Given the description of an element on the screen output the (x, y) to click on. 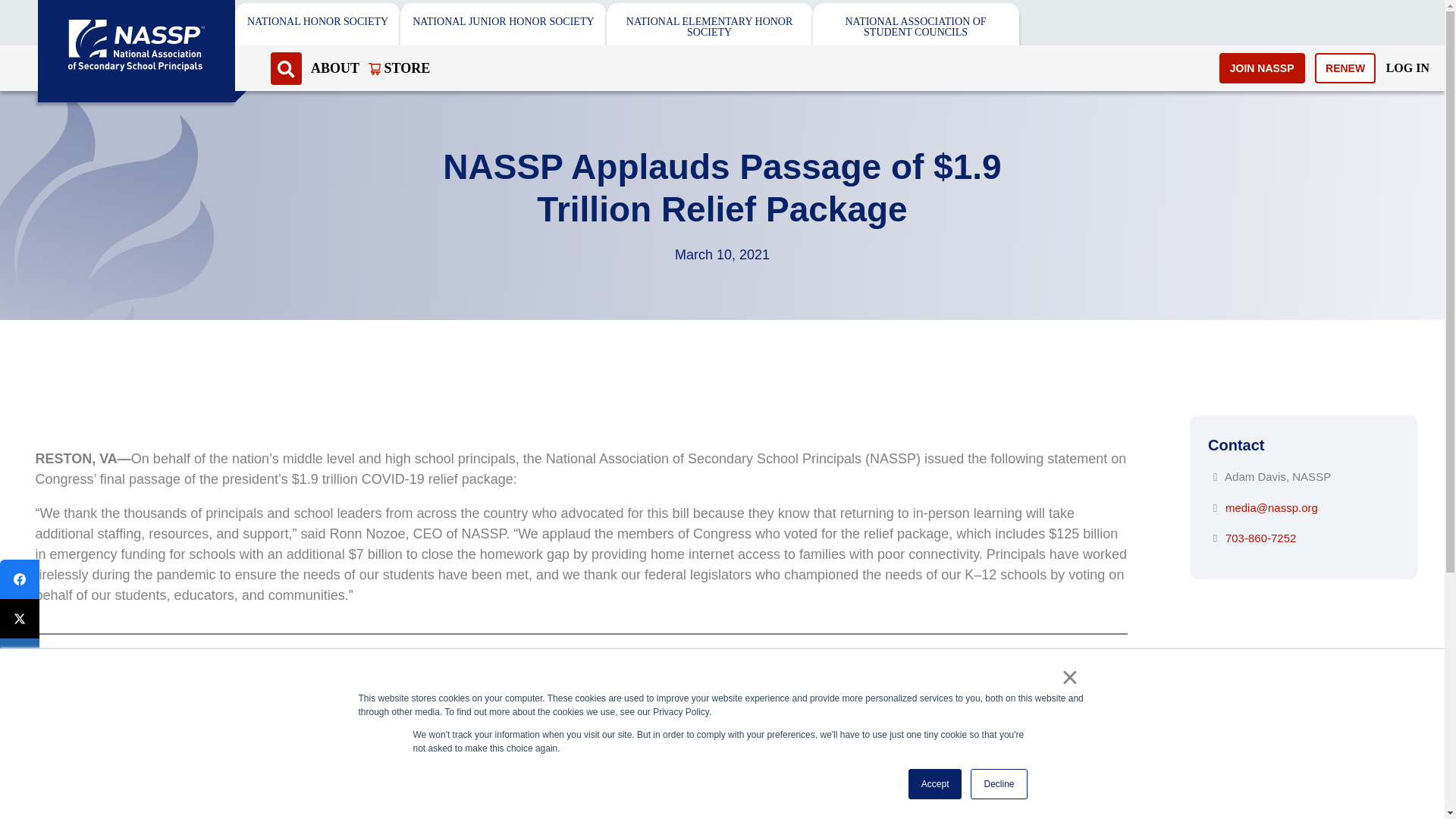
Accept (935, 784)
RENEW (1344, 68)
STORE (398, 67)
NATIONAL ASSOCIATION OF STUDENT COUNCILS (916, 26)
NATIONAL ELEMENTARY HONOR SOCIETY (709, 26)
LOG IN (1407, 67)
NATIONAL JUNIOR HONOR SOCIETY (503, 21)
NATIONAL HONOR SOCIETY (317, 21)
ABOUT (335, 67)
Decline (998, 784)
JOIN NASSP (1262, 68)
